Given the description of an element on the screen output the (x, y) to click on. 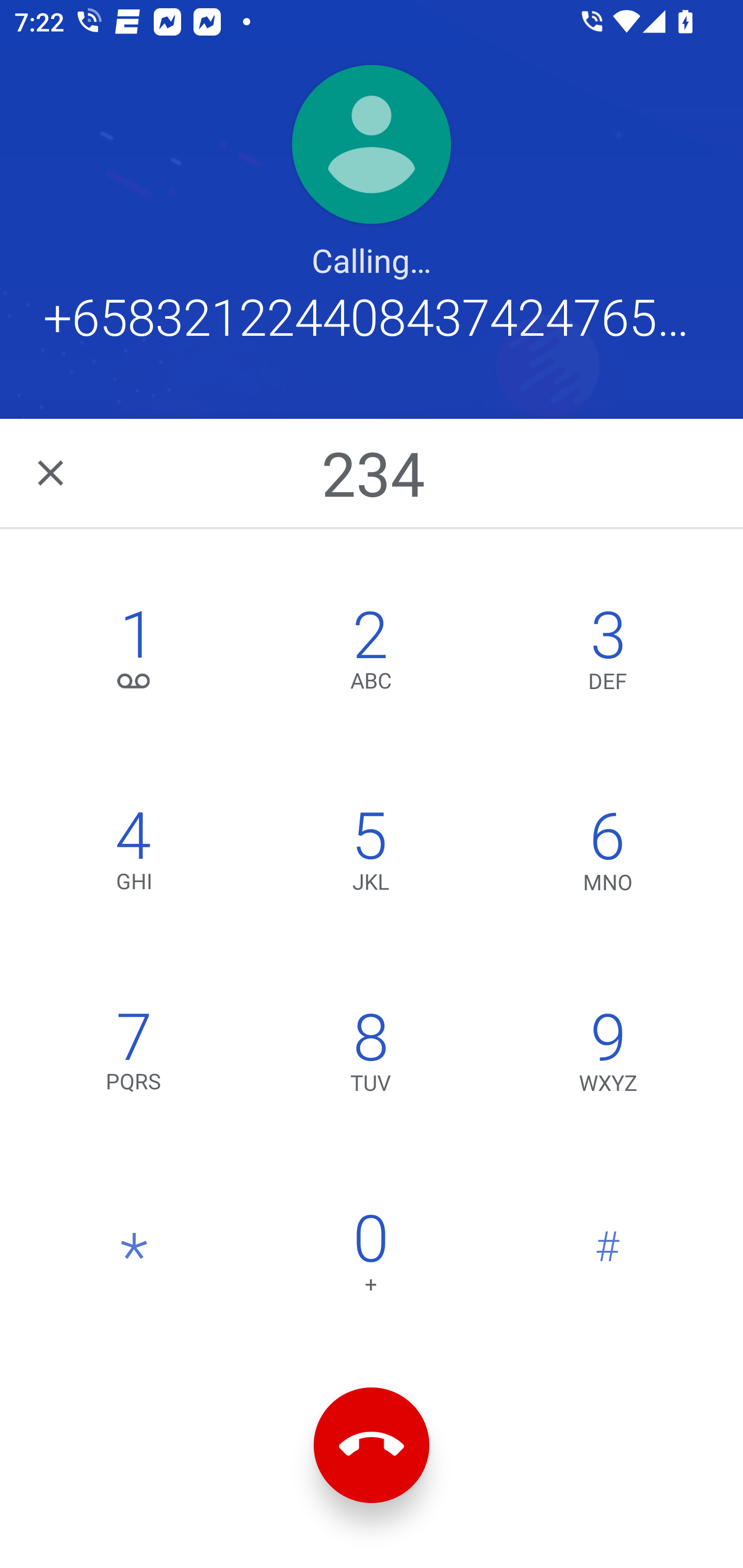
234 (372, 472)
Navigate back (52, 472)
1, 1 (133, 655)
2,ABC 2 ABC (370, 655)
3,DEF 3 DEF (607, 655)
4,GHI 4 GHI (133, 855)
5,JKL 5 JKL (370, 855)
6,MNO 6 MNO (607, 855)
7,PQRS 7 PQRS (133, 1056)
8,TUV 8 TUV (370, 1056)
9,WXYZ 9 WXYZ (607, 1056)
* (133, 1257)
0 0 + (370, 1257)
# (607, 1257)
End call (371, 1445)
